Given the description of an element on the screen output the (x, y) to click on. 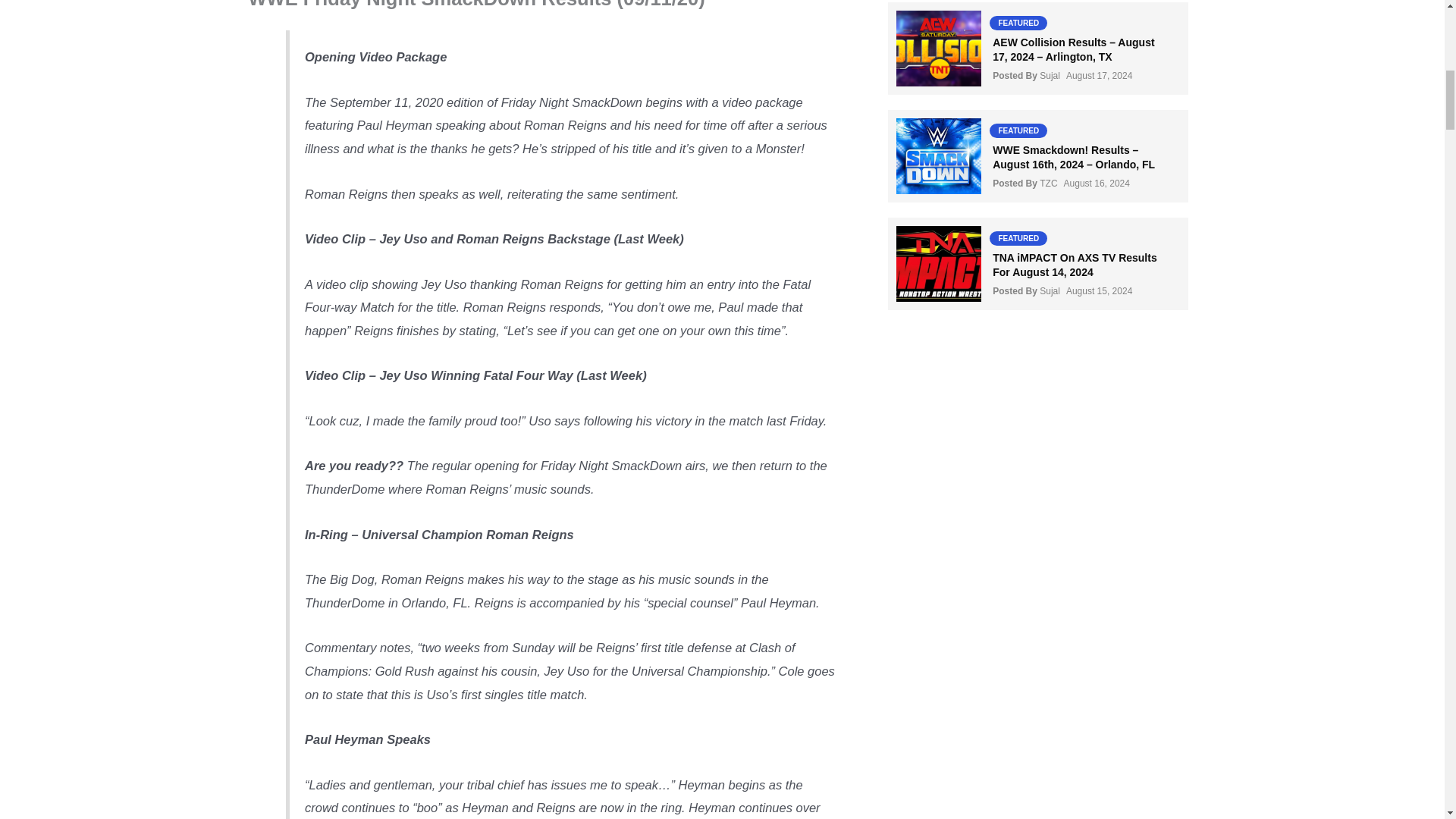
Posts by Sujal (1049, 75)
TNA iMPACT On AXS TV Results For August 14, 2024 (1074, 264)
Posts by Sujal (1049, 290)
Posts by TZC (1048, 183)
